Given the description of an element on the screen output the (x, y) to click on. 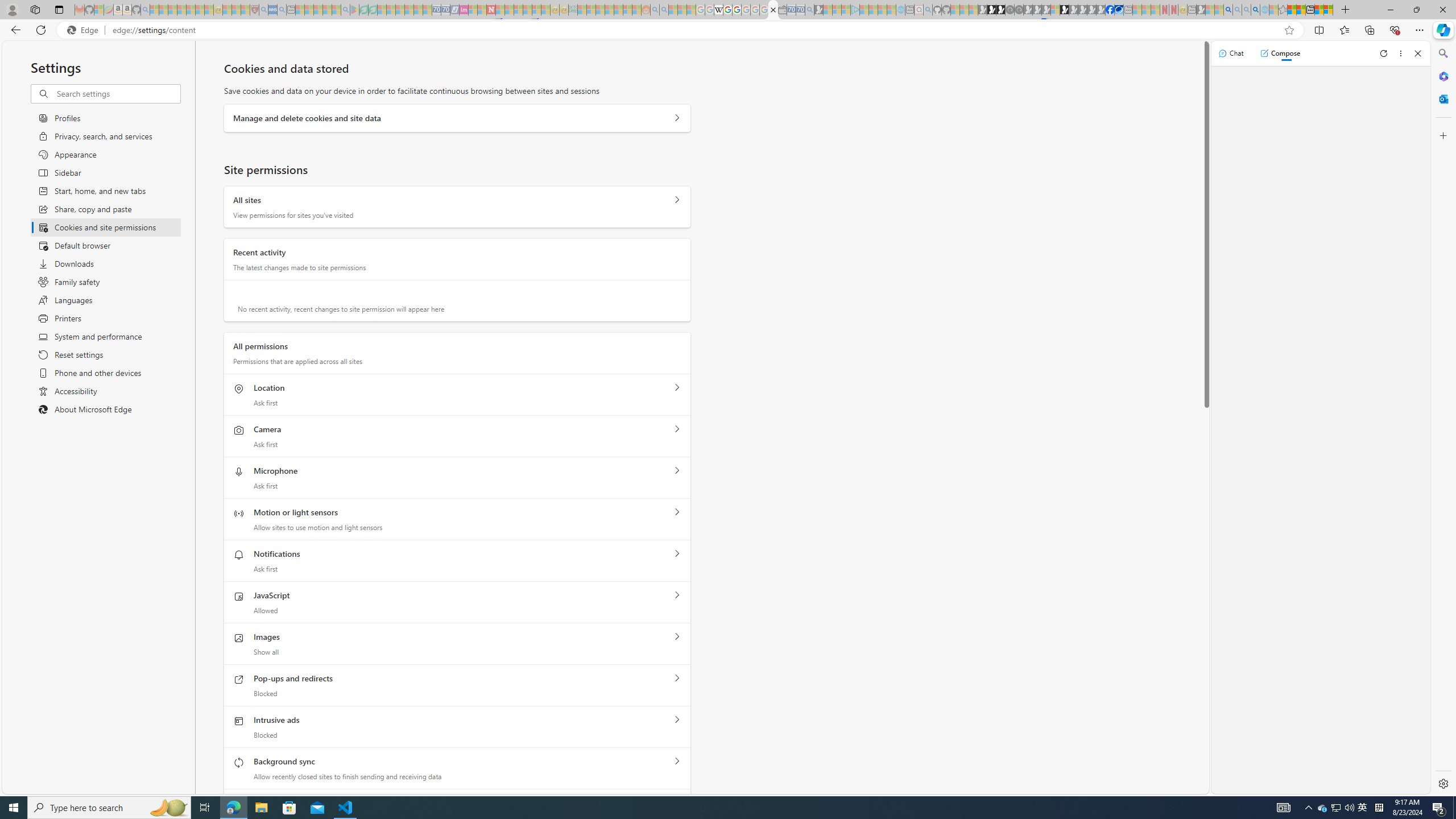
Microphone (676, 470)
Wallet - Sleeping (782, 9)
Intrusive ads (676, 720)
